Given the description of an element on the screen output the (x, y) to click on. 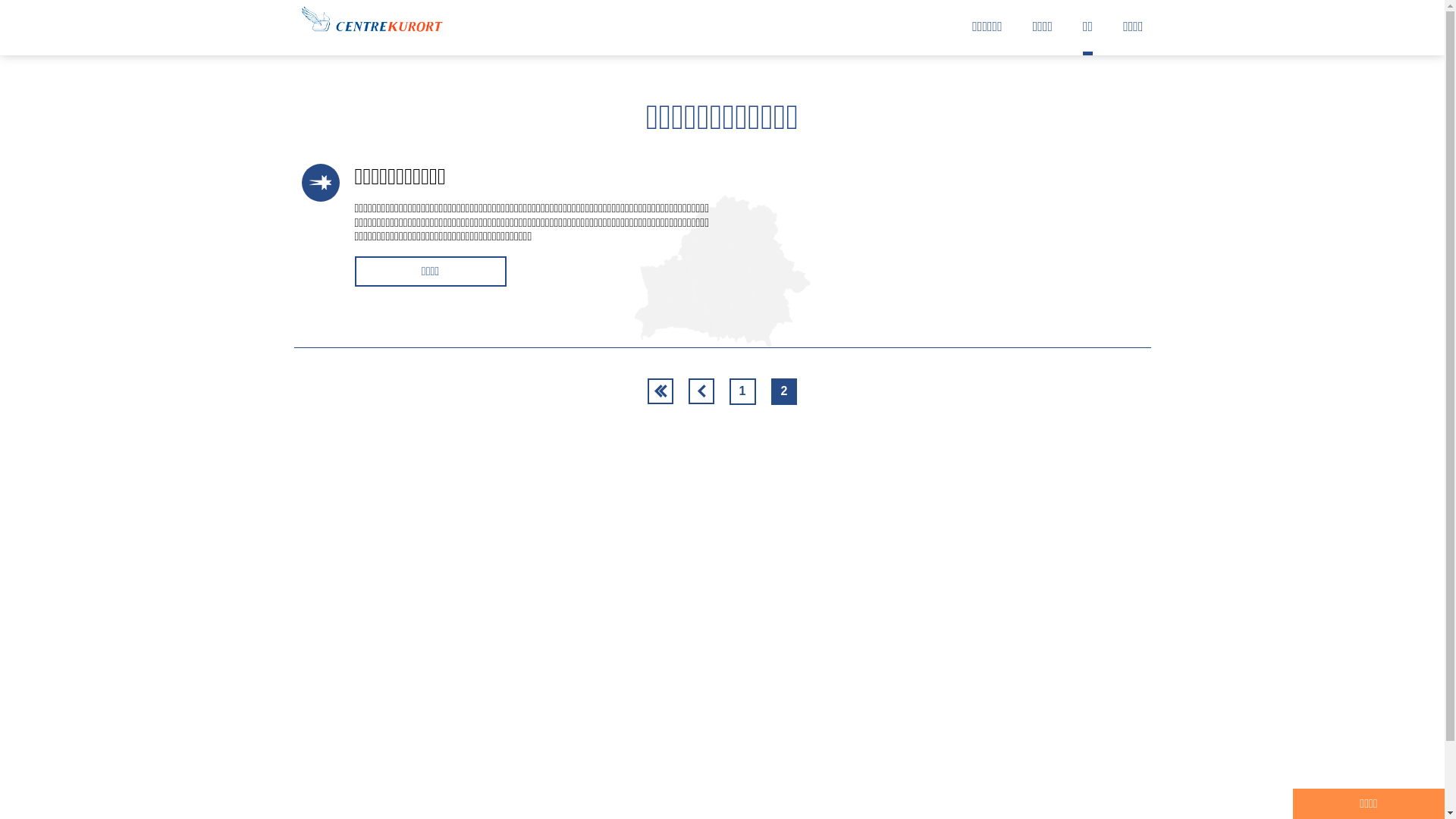
1 Element type: text (742, 391)
